Given the description of an element on the screen output the (x, y) to click on. 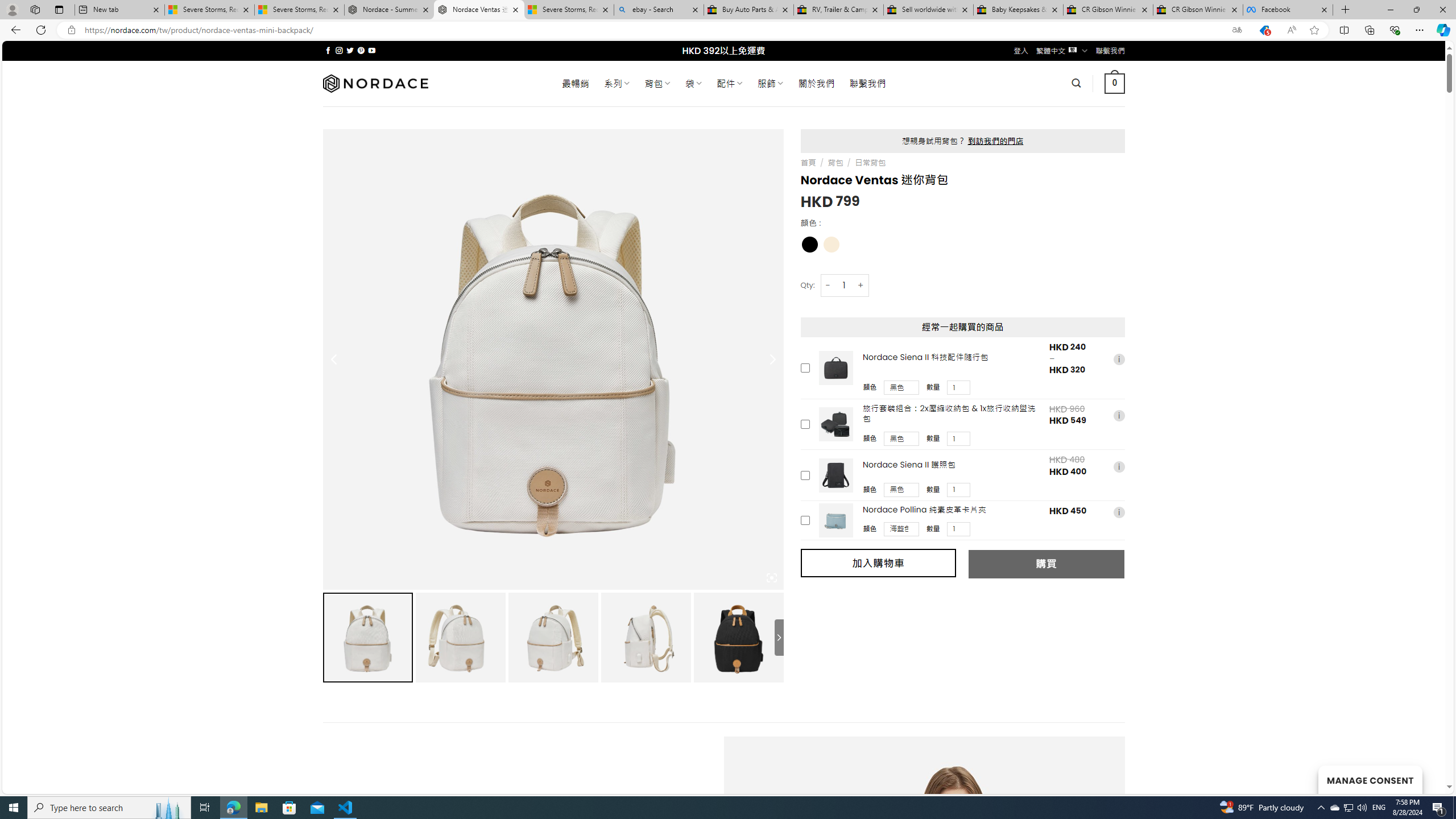
Class: upsell-v2-product-upsell-variable-product-qty-select (958, 529)
Show translate options (1236, 29)
